Given the description of an element on the screen output the (x, y) to click on. 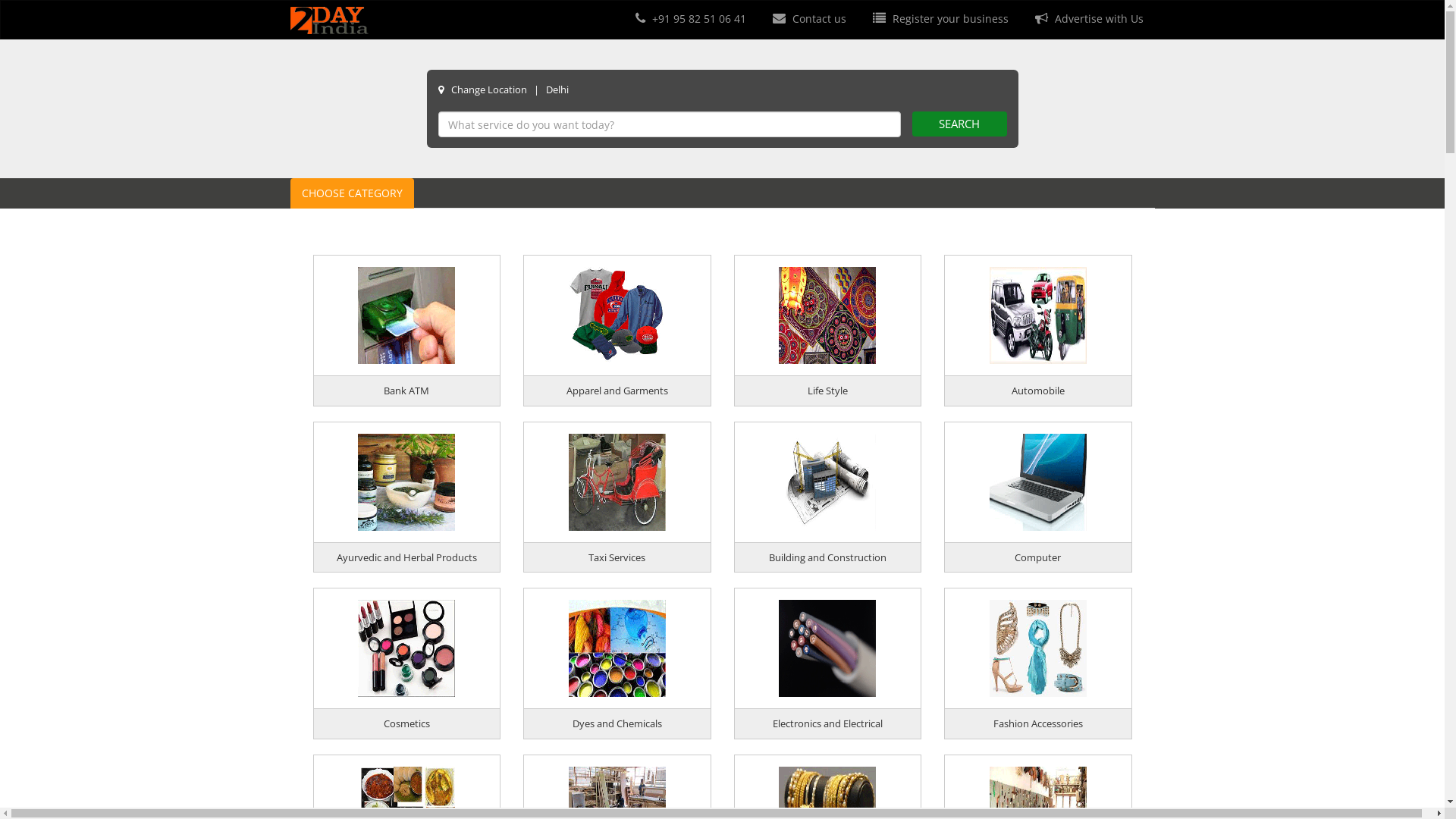
Change Location Element type: text (488, 89)
Automobile Element type: text (1037, 390)
Contact us Element type: text (806, 18)
Delhi Element type: text (557, 89)
Apparel and Garments Element type: text (617, 390)
SEARCH Element type: text (958, 123)
Advertise with Us Element type: text (1086, 18)
Taxi Services Element type: text (616, 557)
Fashion Accessories Element type: text (1037, 723)
Life Style Element type: text (827, 390)
Building and Construction Element type: text (827, 557)
Cosmetics Element type: text (406, 723)
+91 95 82 51 06 41 Element type: text (688, 18)
Dyes and Chemicals Element type: text (617, 723)
Register your business Element type: text (937, 18)
CHOOSE CATEGORY Element type: text (351, 193)
Computer Element type: text (1037, 557)
Electronics and Electrical Element type: text (827, 723)
Ayurvedic and Herbal Products Element type: text (406, 557)
Bank ATM Element type: text (406, 390)
